Given the description of an element on the screen output the (x, y) to click on. 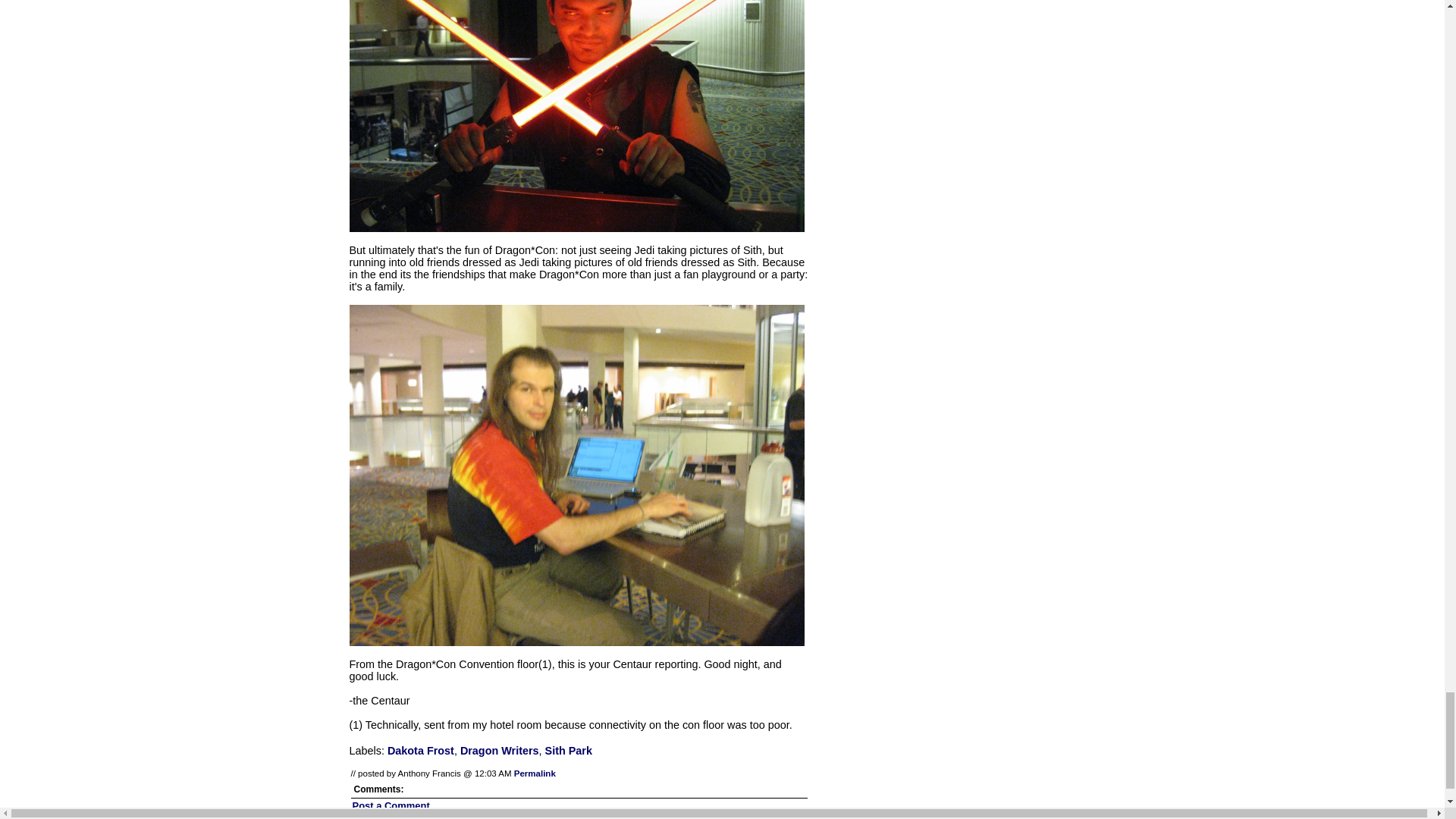
permanent link (534, 773)
Dakota Frost (420, 750)
Dragon Writers (499, 750)
Permalink (534, 773)
Post a Comment (390, 805)
Sith Park (568, 750)
